Given the description of an element on the screen output the (x, y) to click on. 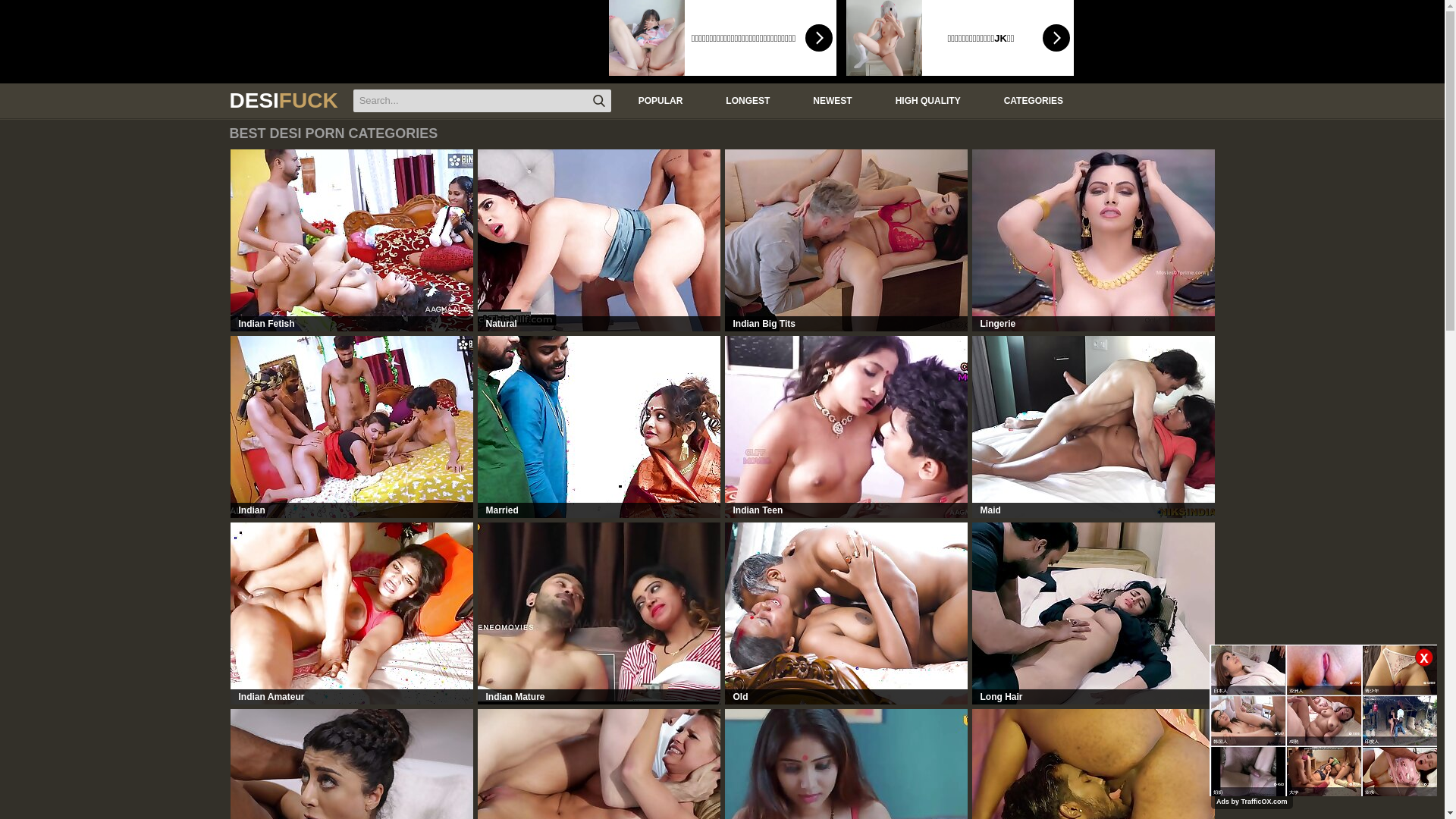
Ads by TrafficOX.com Element type: text (1251, 801)
Lingerie Element type: text (1093, 240)
Indian Element type: text (351, 426)
Maid Element type: text (1093, 426)
Indian Teen Element type: text (845, 426)
Old Element type: text (845, 613)
CATEGORIES Element type: text (1031, 100)
Married Element type: text (598, 426)
Indian Mature Element type: text (598, 613)
POPULAR Element type: text (658, 100)
Natural Element type: text (598, 240)
DESIFUCK Element type: text (283, 100)
HIGH QUALITY Element type: text (926, 100)
Search X Videos Element type: hover (482, 100)
NEWEST Element type: text (830, 100)
Indian Big Tits Element type: text (845, 240)
LONGEST Element type: text (745, 100)
Indian Fetish Element type: text (351, 240)
Indian Amateur Element type: text (351, 613)
Long Hair Element type: text (1093, 613)
